Given the description of an element on the screen output the (x, y) to click on. 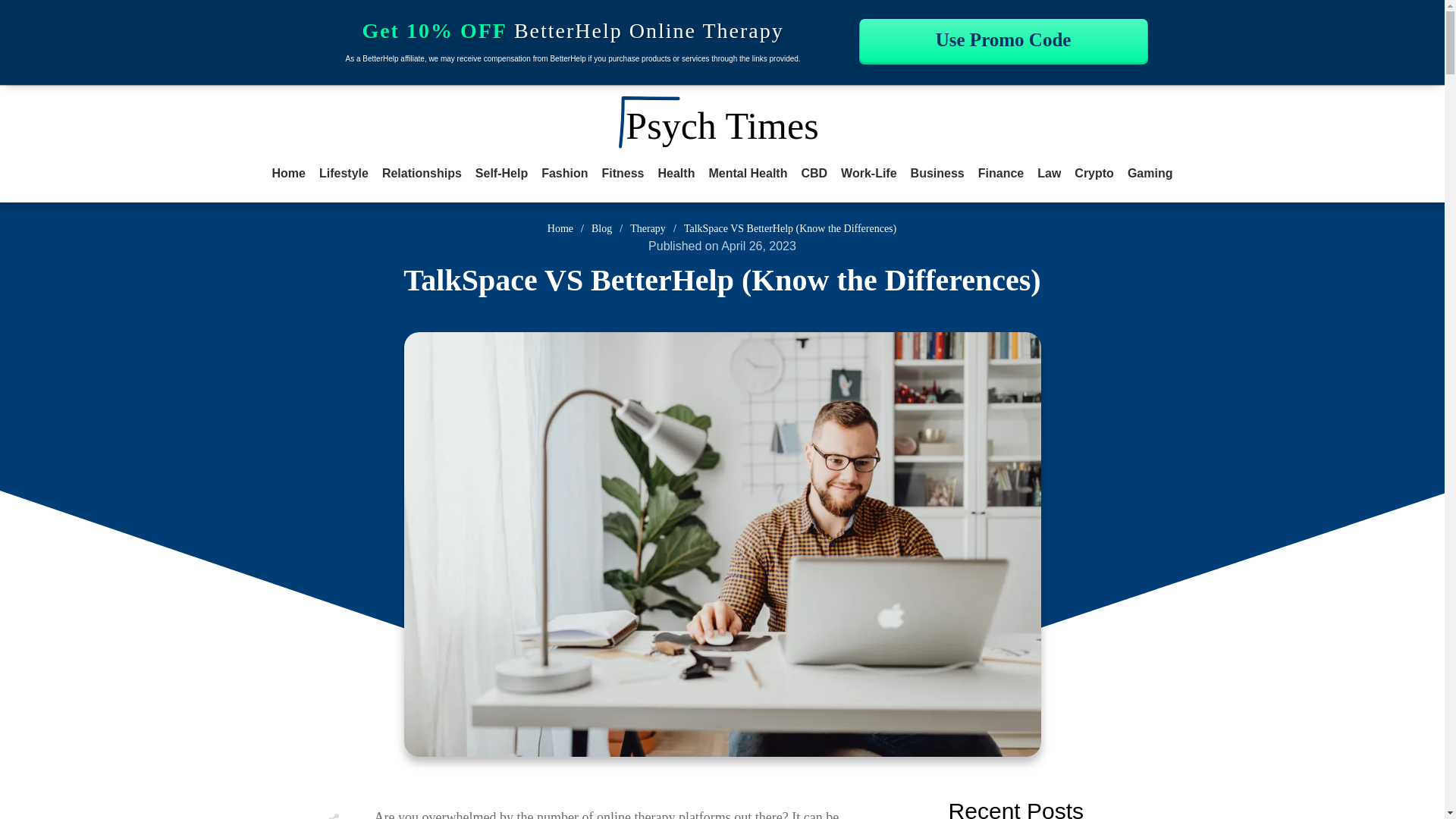
Law (1048, 173)
Blog (601, 228)
Lifestyle (343, 173)
Business (937, 173)
Fitness (623, 173)
Home (288, 173)
Fashion (564, 173)
Relationships (421, 173)
Self-Help (501, 173)
Work-Life (868, 173)
Mental Health (747, 173)
CBD (813, 173)
Health (676, 173)
Crypto (1093, 173)
Gaming (1149, 173)
